Given the description of an element on the screen output the (x, y) to click on. 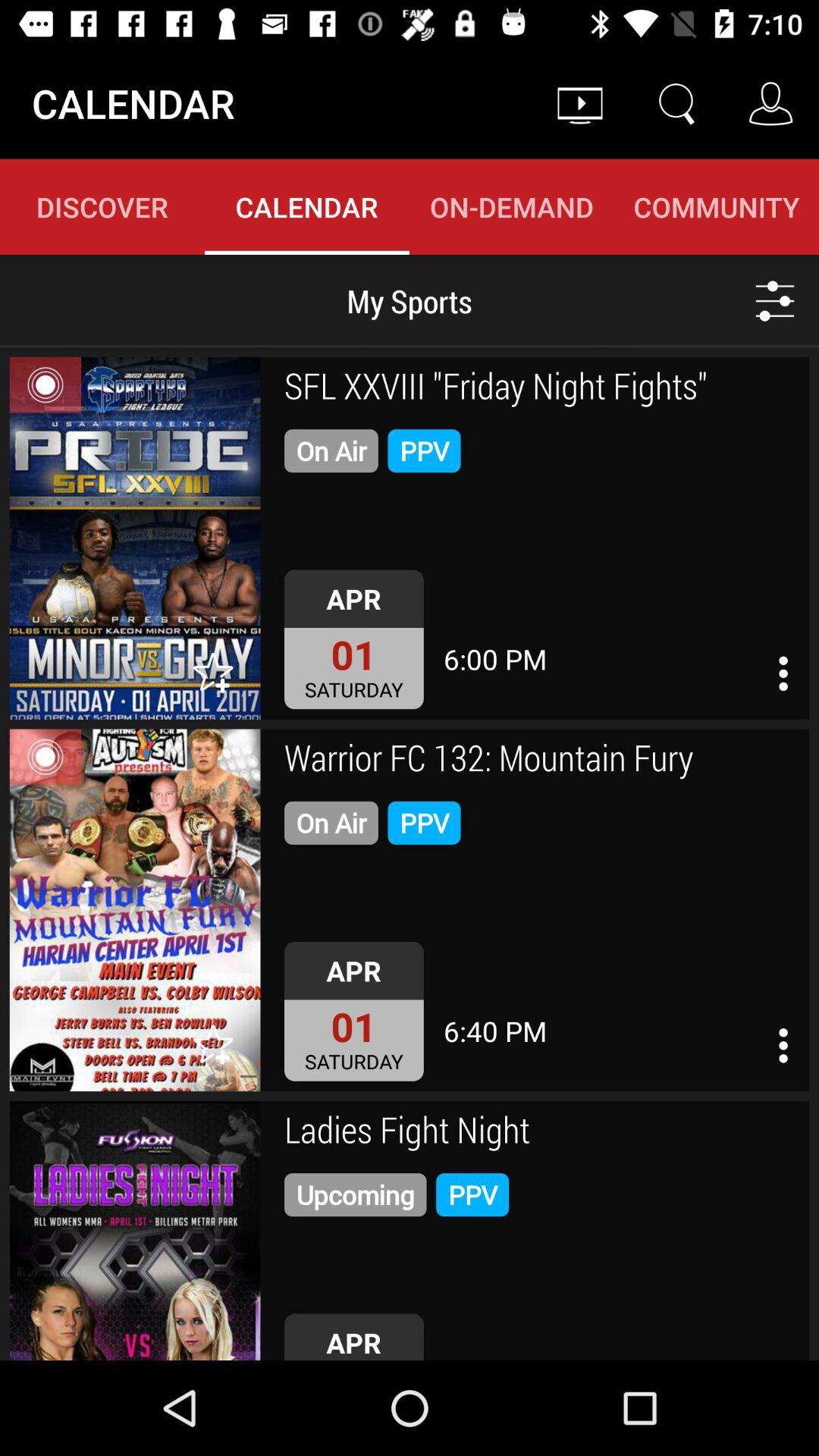
select article (134, 910)
